Given the description of an element on the screen output the (x, y) to click on. 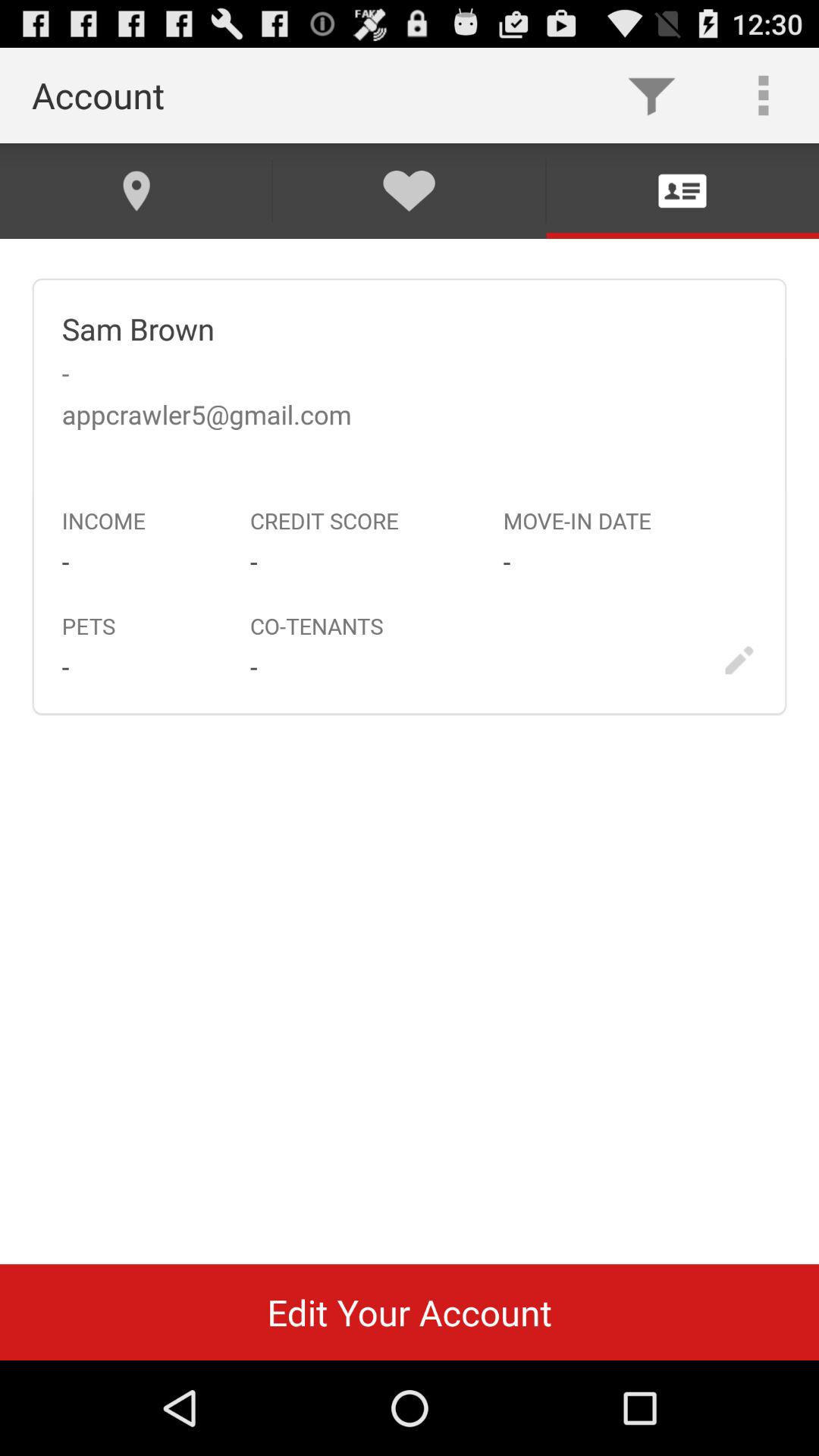
turn off the item below the - item (409, 1312)
